Given the description of an element on the screen output the (x, y) to click on. 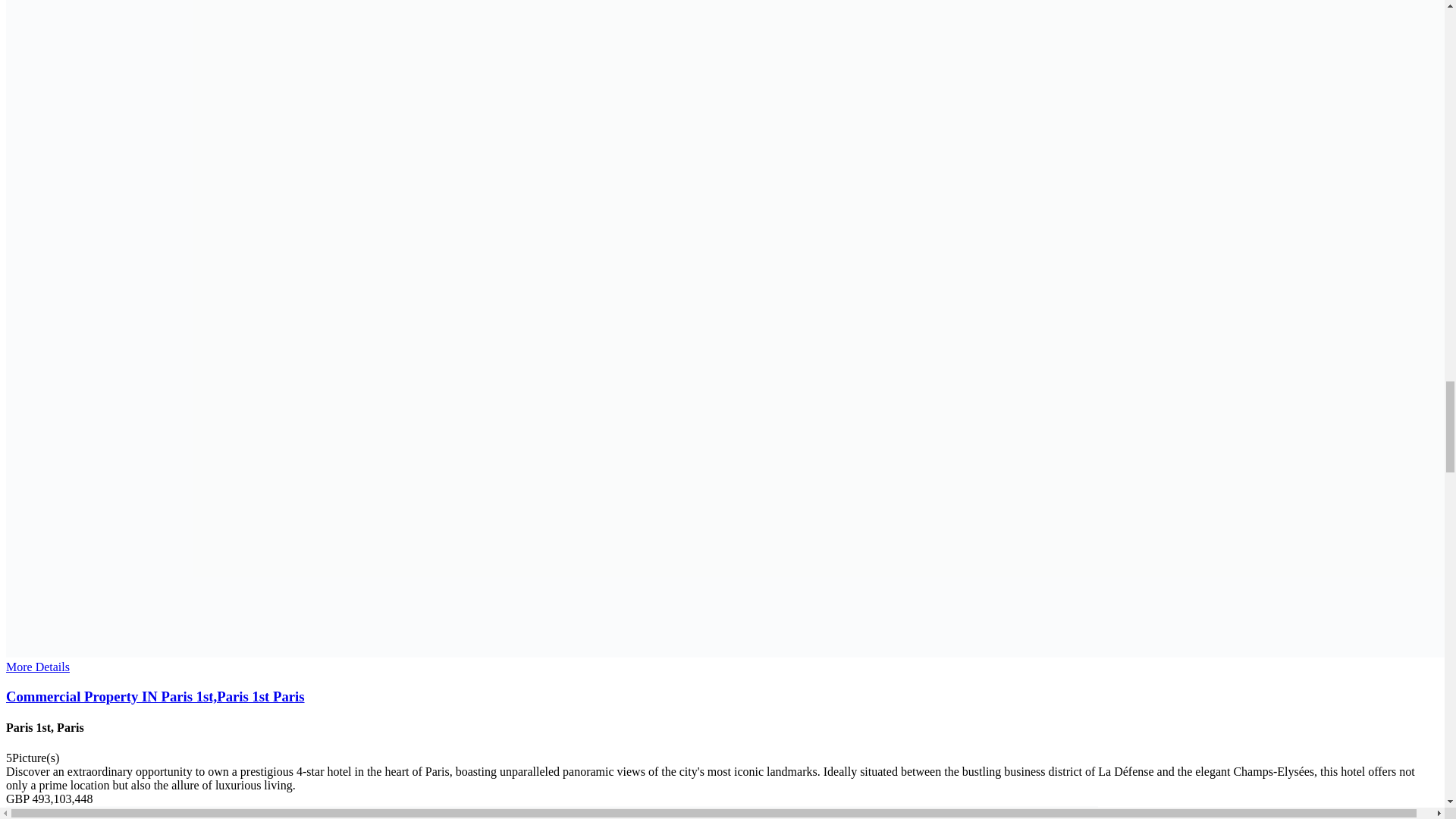
COMMERCIAL PROPERTY IN PARIS 1ST,PARIS 1ST PARIS (721, 696)
Commercial Property, For Sale (551, 812)
